Given the description of an element on the screen output the (x, y) to click on. 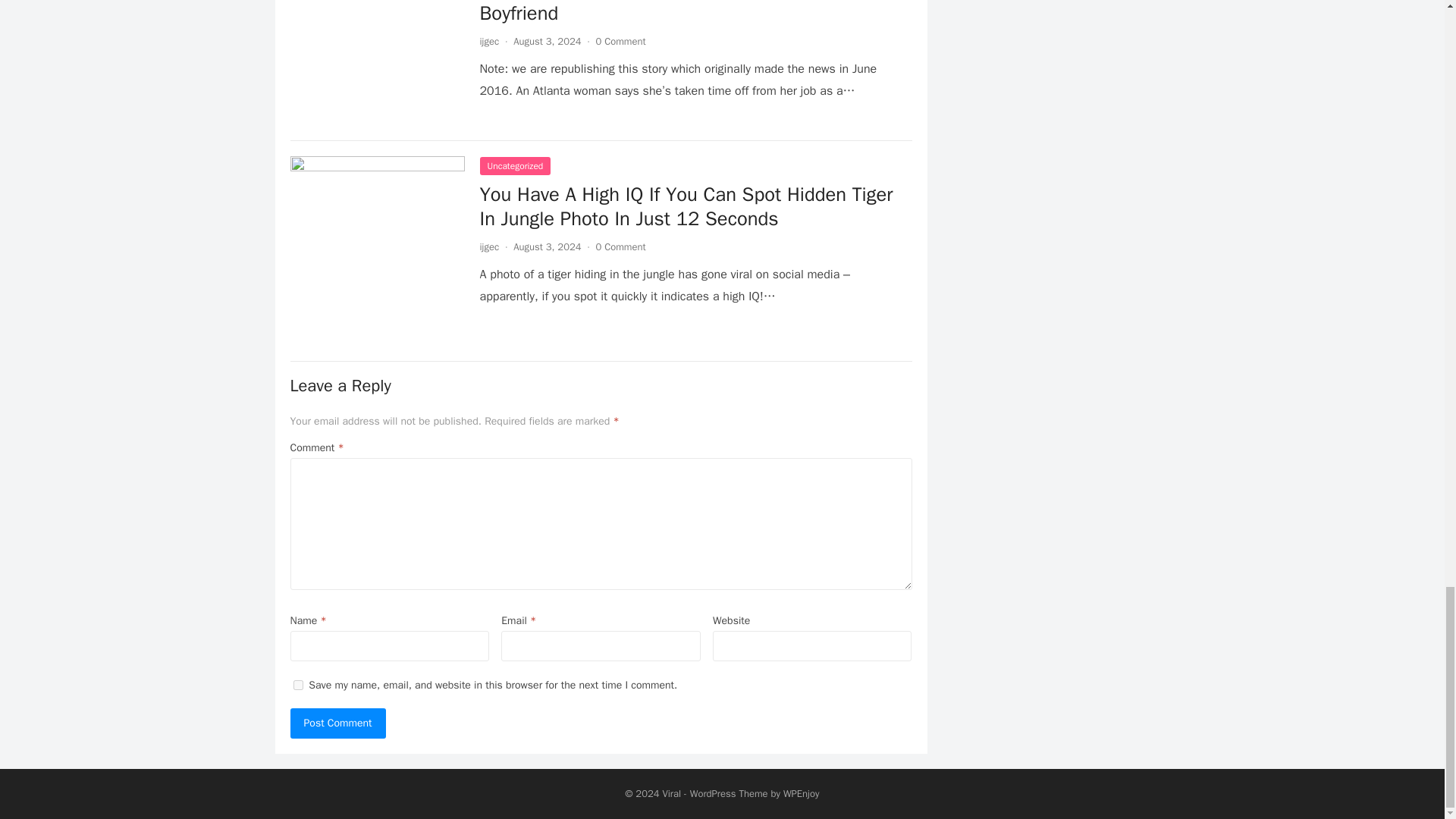
0 Comment (620, 41)
Uncategorized (514, 166)
ijgec (489, 41)
Woman Takes Time Off From Work To Breastfeed Boyfriend (687, 12)
Posts by ijgec (489, 41)
Post Comment (337, 723)
Posts by ijgec (489, 246)
yes (297, 685)
